Given the description of an element on the screen output the (x, y) to click on. 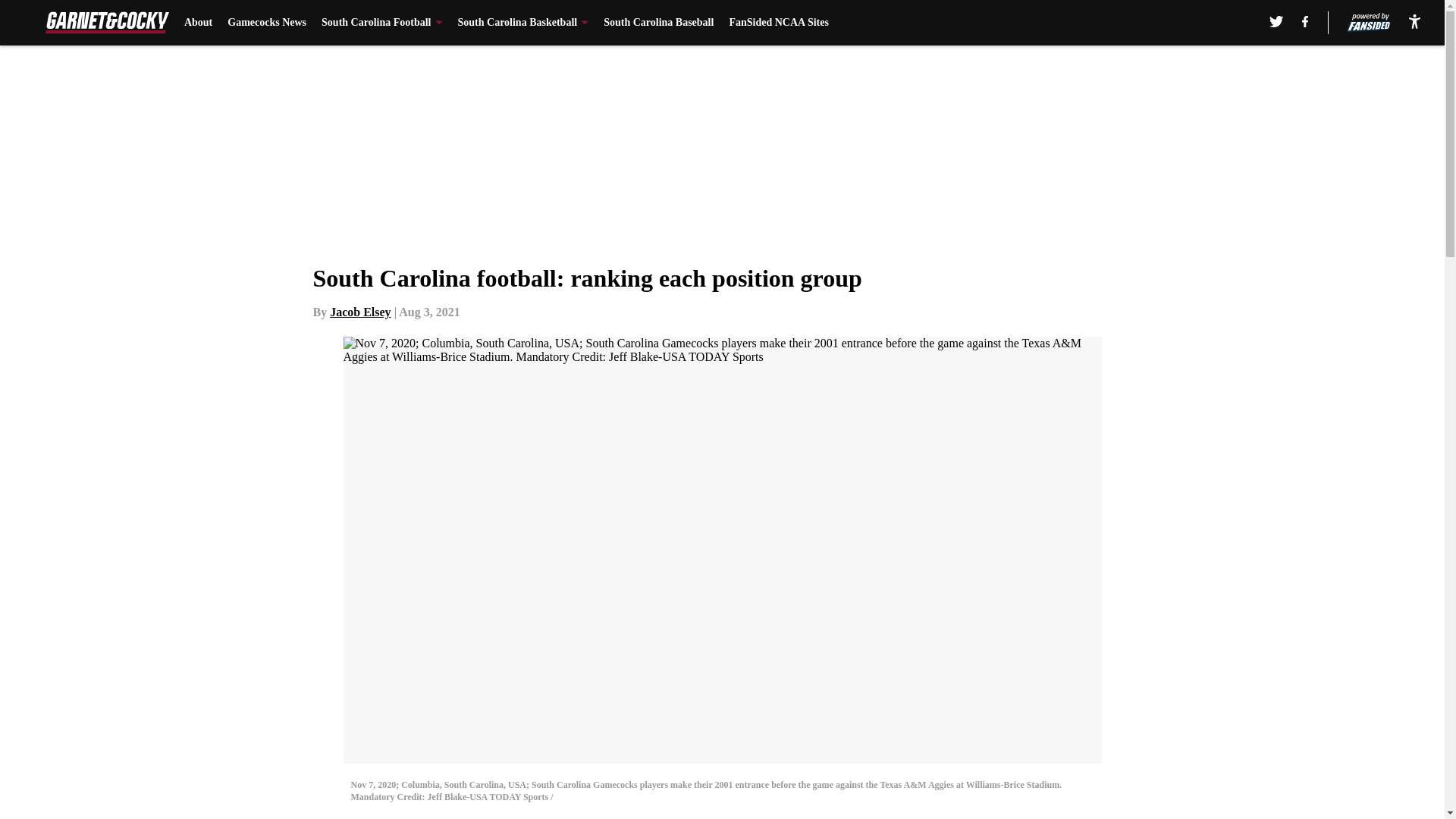
FanSided NCAA Sites (778, 22)
About (198, 22)
Jacob Elsey (360, 311)
Gamecocks News (266, 22)
South Carolina Baseball (658, 22)
